Given the description of an element on the screen output the (x, y) to click on. 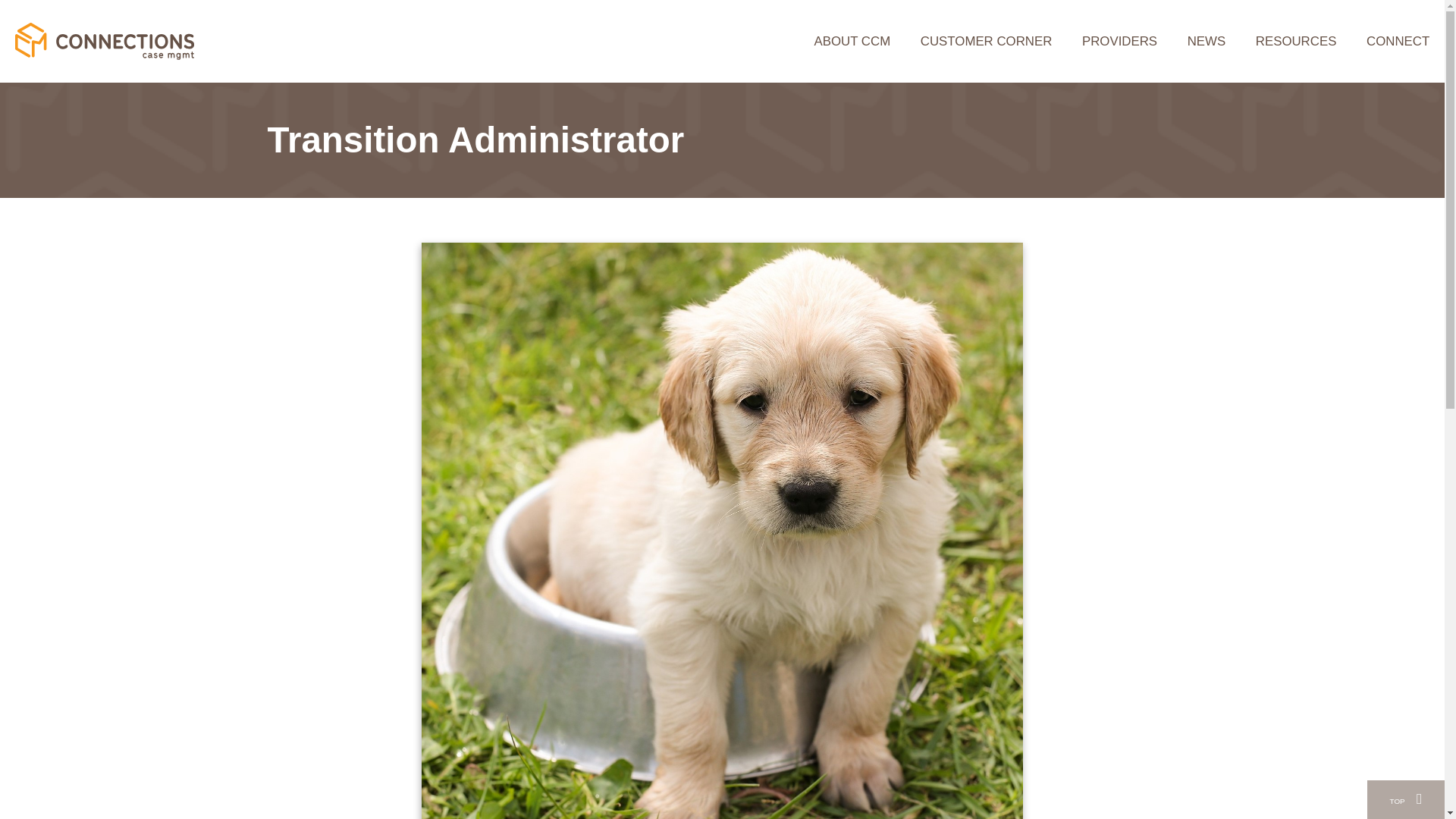
ABOUT CCM (852, 41)
CUSTOMER CORNER (986, 41)
NEWS (1206, 41)
RESOURCES (1295, 41)
PROVIDERS (1119, 41)
